Given the description of an element on the screen output the (x, y) to click on. 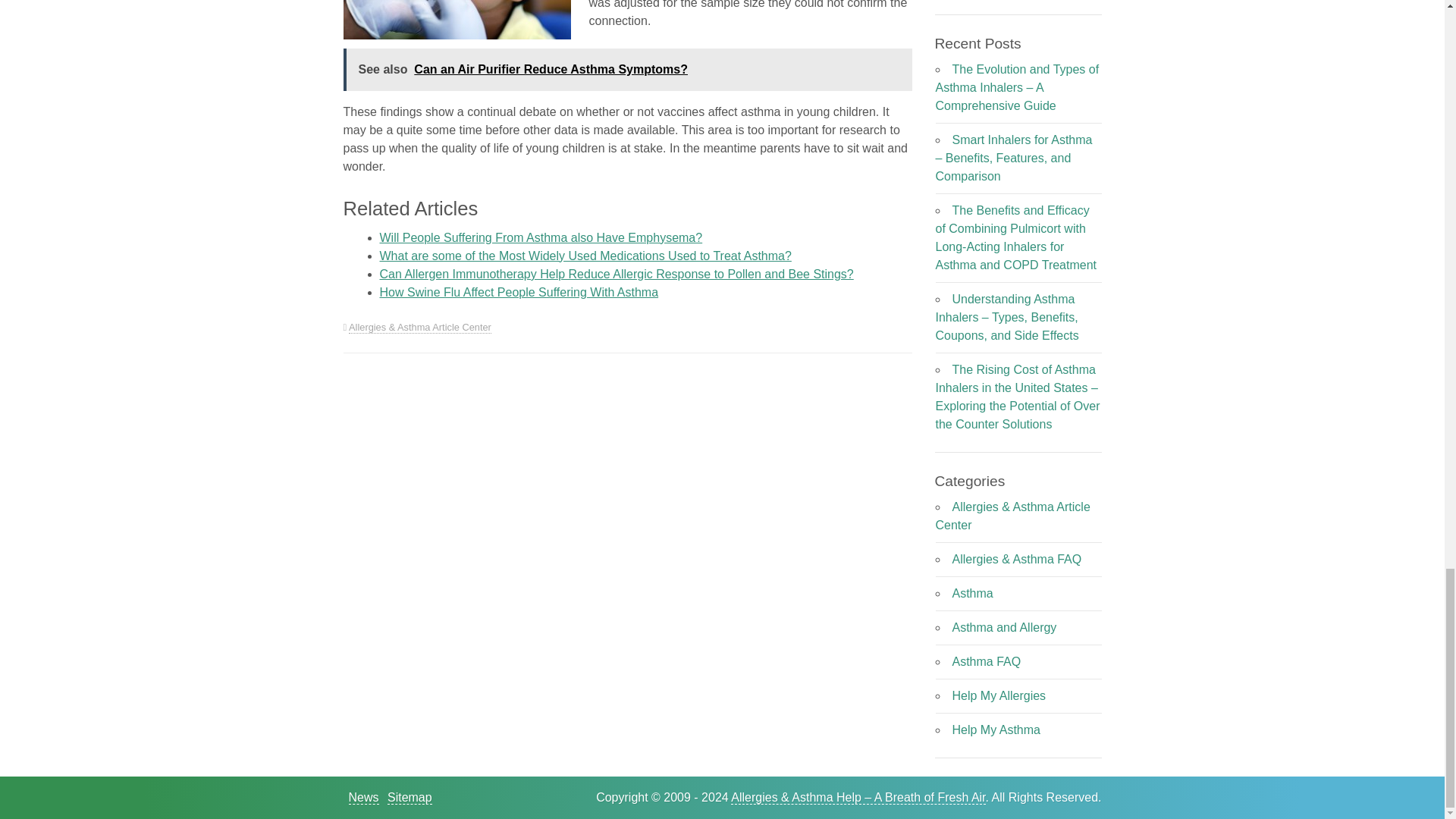
Will People Suffering From Asthma also Have Emphysema? (539, 237)
Pertussis vaccination (456, 19)
How Swine Flu Affect People Suffering With Asthma (518, 291)
See also  Can an Air Purifier Reduce Asthma Symptoms? (626, 69)
Will People Suffering From Asthma also Have Emphysema? (539, 237)
How Swine Flu Affect People Suffering With Asthma (518, 291)
